Given the description of an element on the screen output the (x, y) to click on. 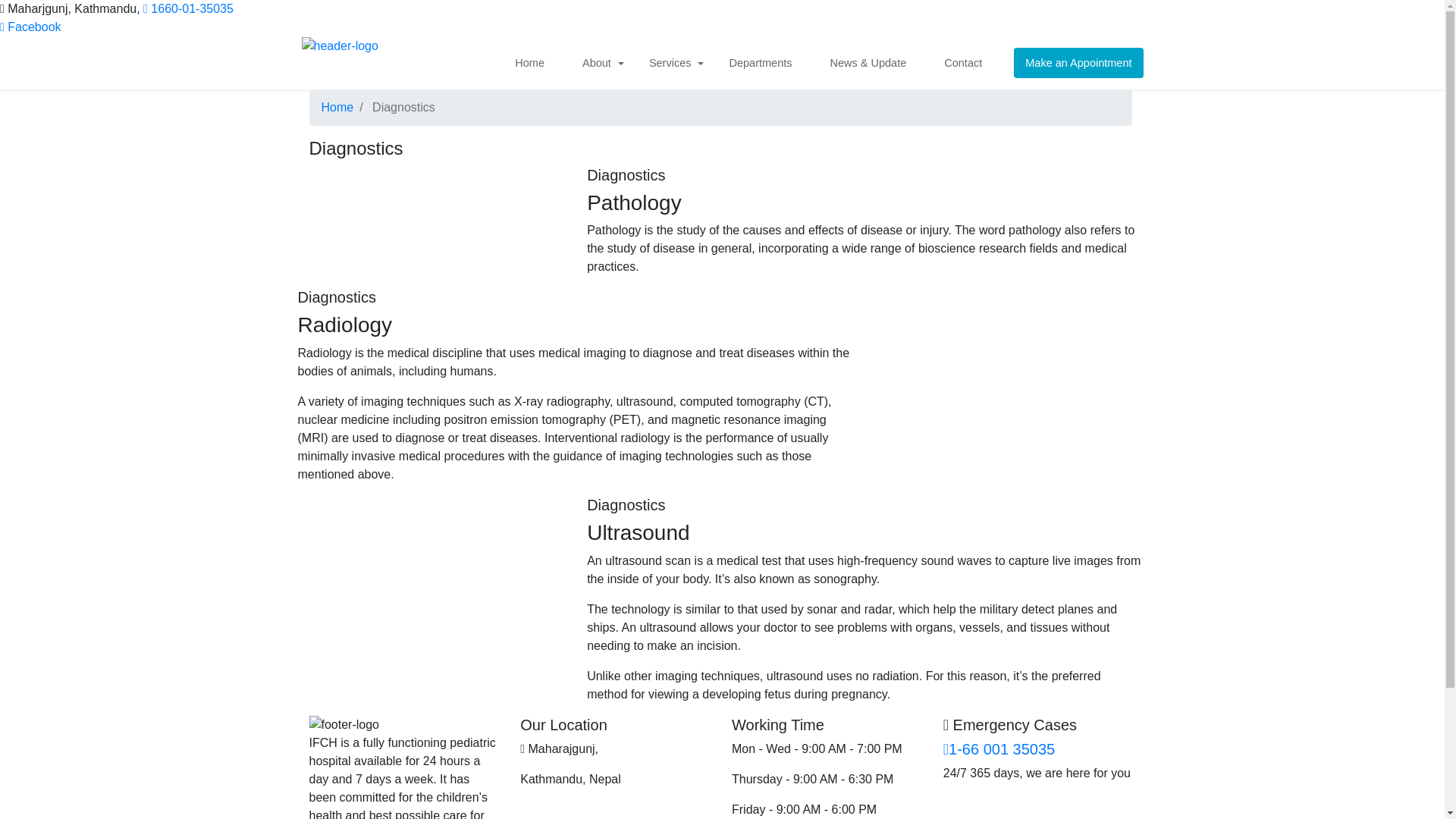
1660-01-35035 (187, 8)
About (601, 62)
Make an Appointment (1077, 62)
1-66 001 35035 (998, 749)
Home (337, 106)
Departments (764, 62)
Home (534, 62)
Services (675, 62)
Facebook (30, 26)
Facebook (30, 26)
